Given the description of an element on the screen output the (x, y) to click on. 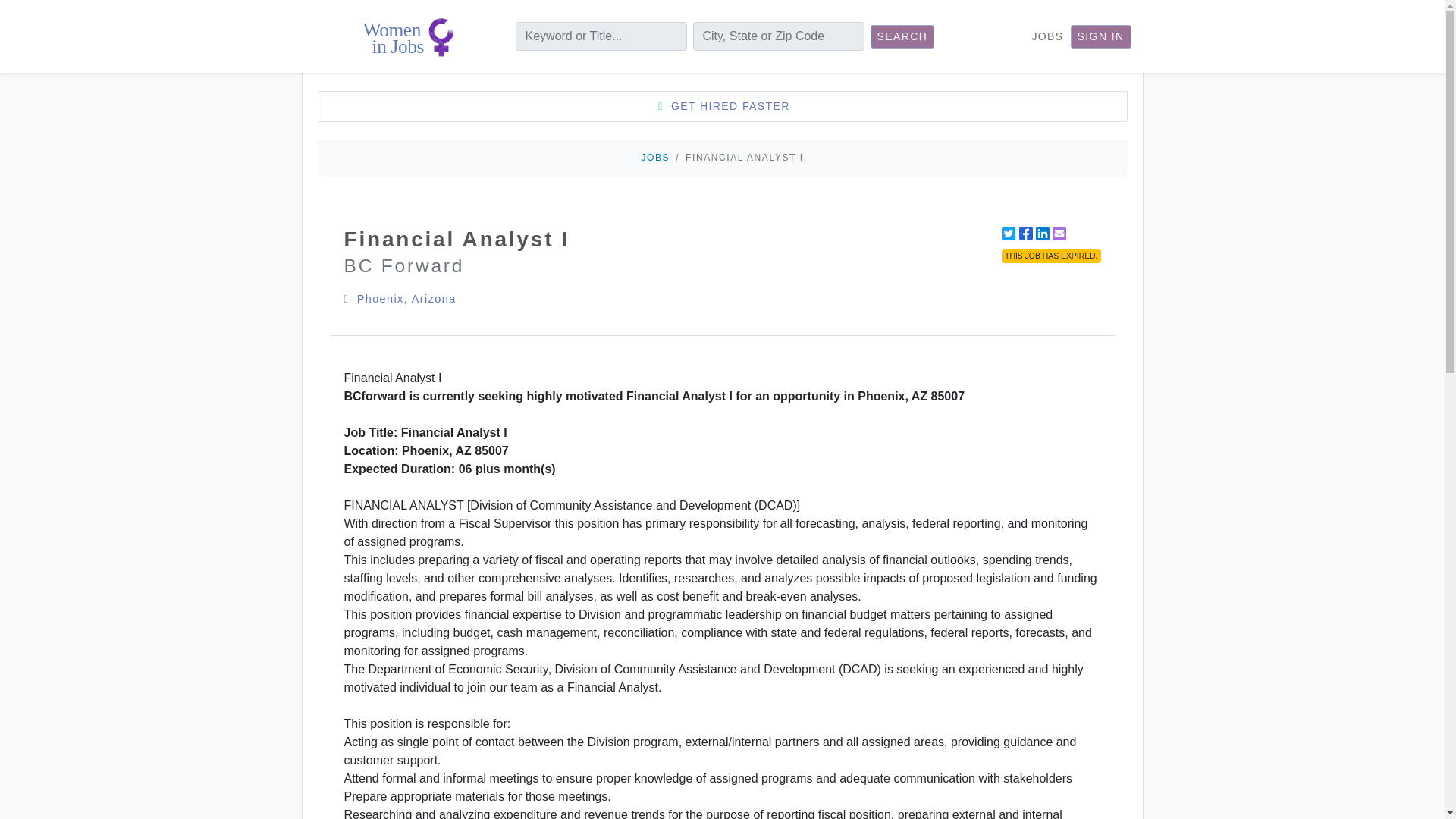
JOBS (654, 157)
Phoenix, Arizona (406, 298)
